Given the description of an element on the screen output the (x, y) to click on. 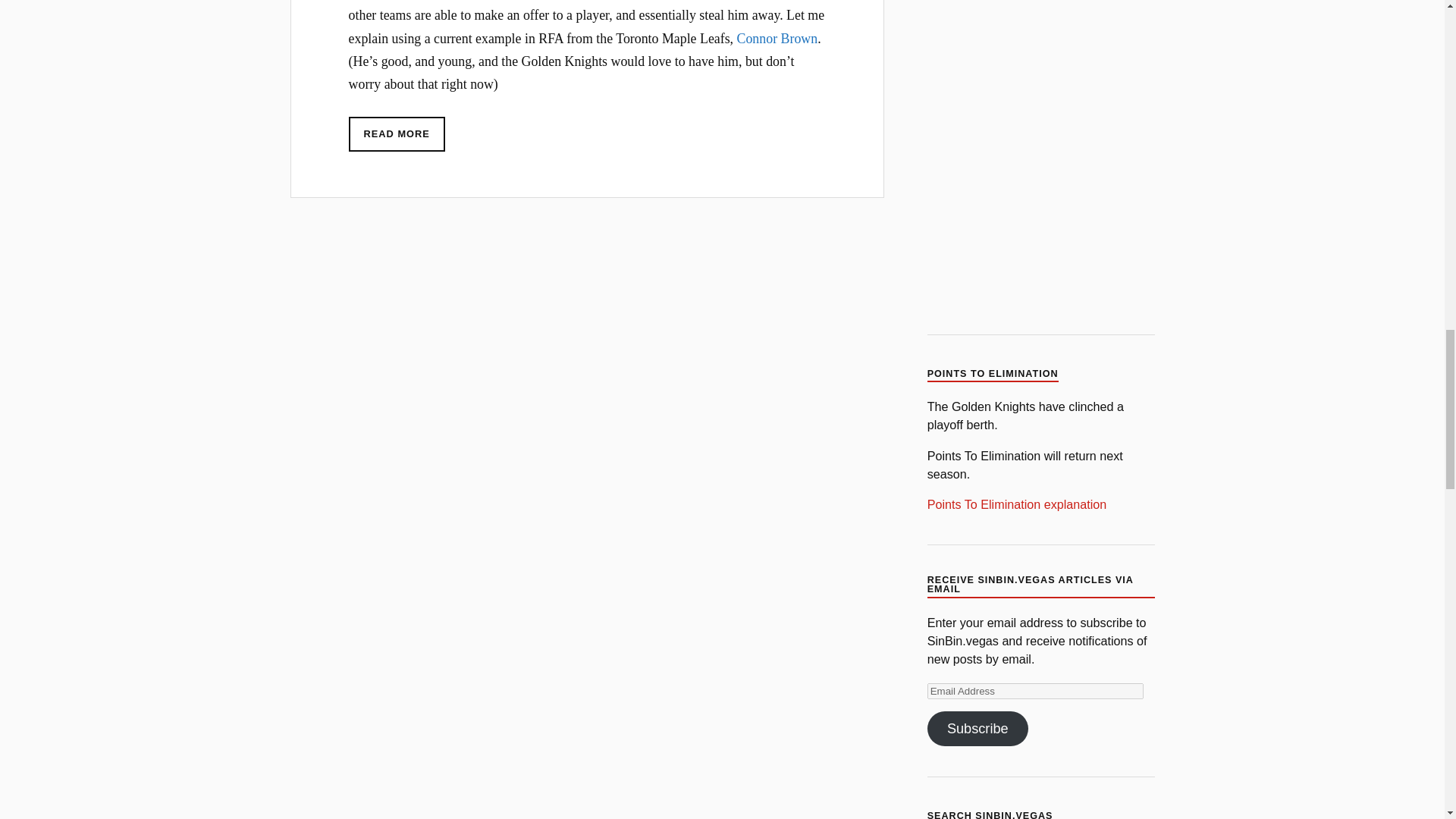
Points To Elimination explanation (1016, 504)
Subscribe (977, 728)
READ MORE (397, 134)
Connor Brown (777, 38)
